Given the description of an element on the screen output the (x, y) to click on. 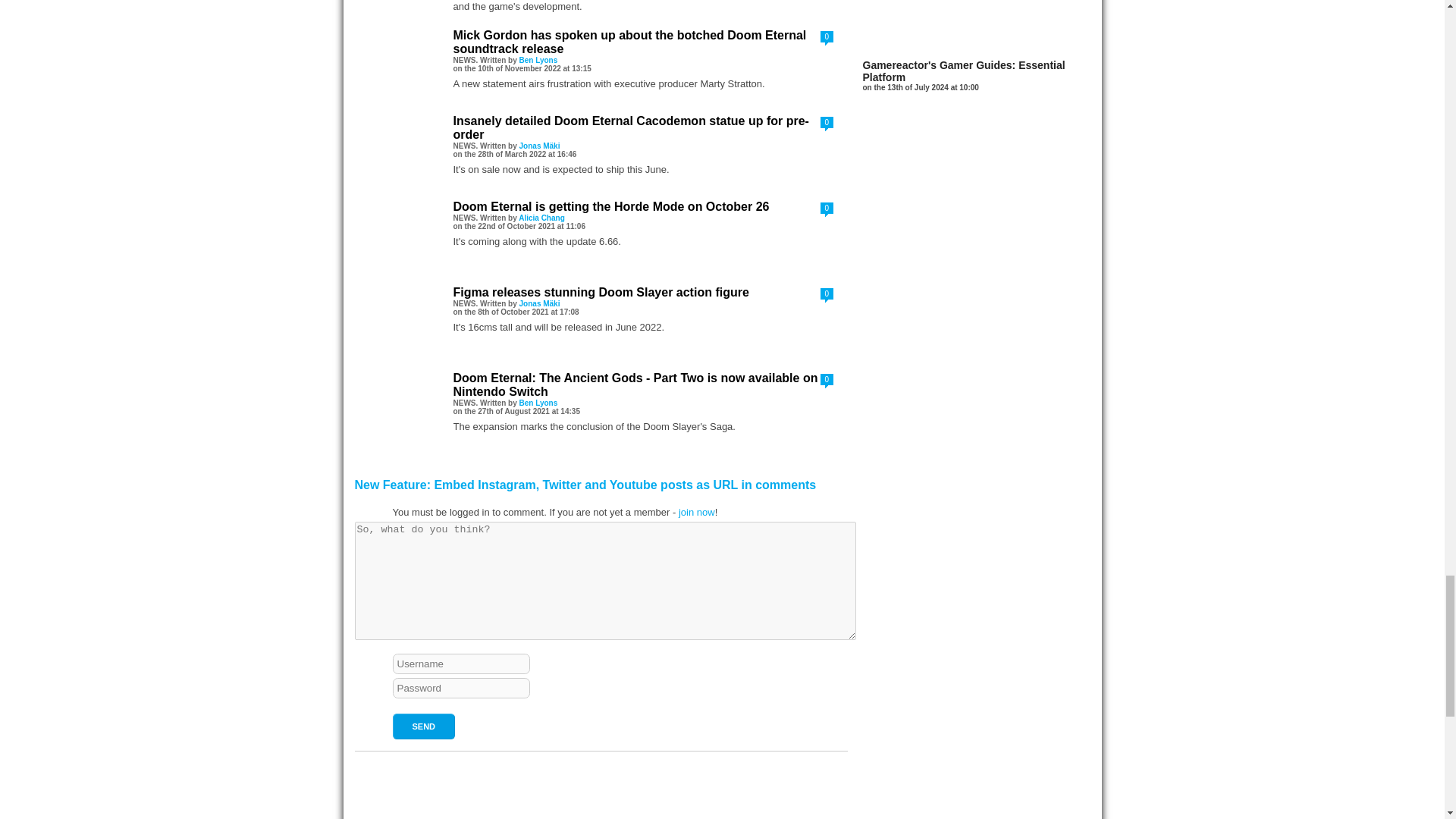
Send (424, 726)
